Given the description of an element on the screen output the (x, y) to click on. 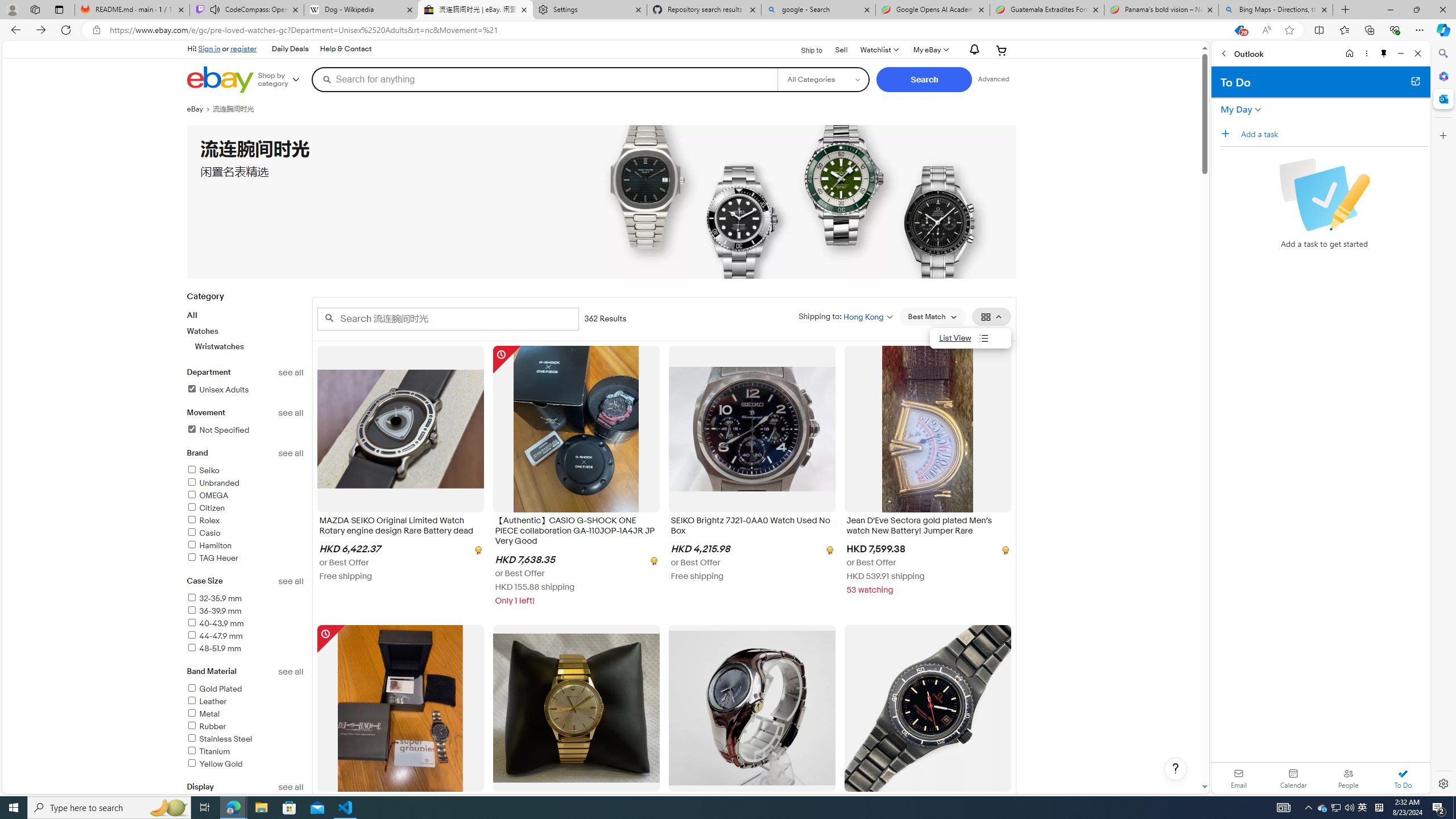
Calendar. Date today is 22 (1293, 777)
Metal (202, 714)
Dog - Wikipedia (360, 9)
Home (1348, 53)
Advanced Search (993, 78)
See all movement refinements (291, 412)
Titanium (208, 751)
Search for anything (544, 78)
AllWatchesWristwatches (245, 330)
